Given the description of an element on the screen output the (x, y) to click on. 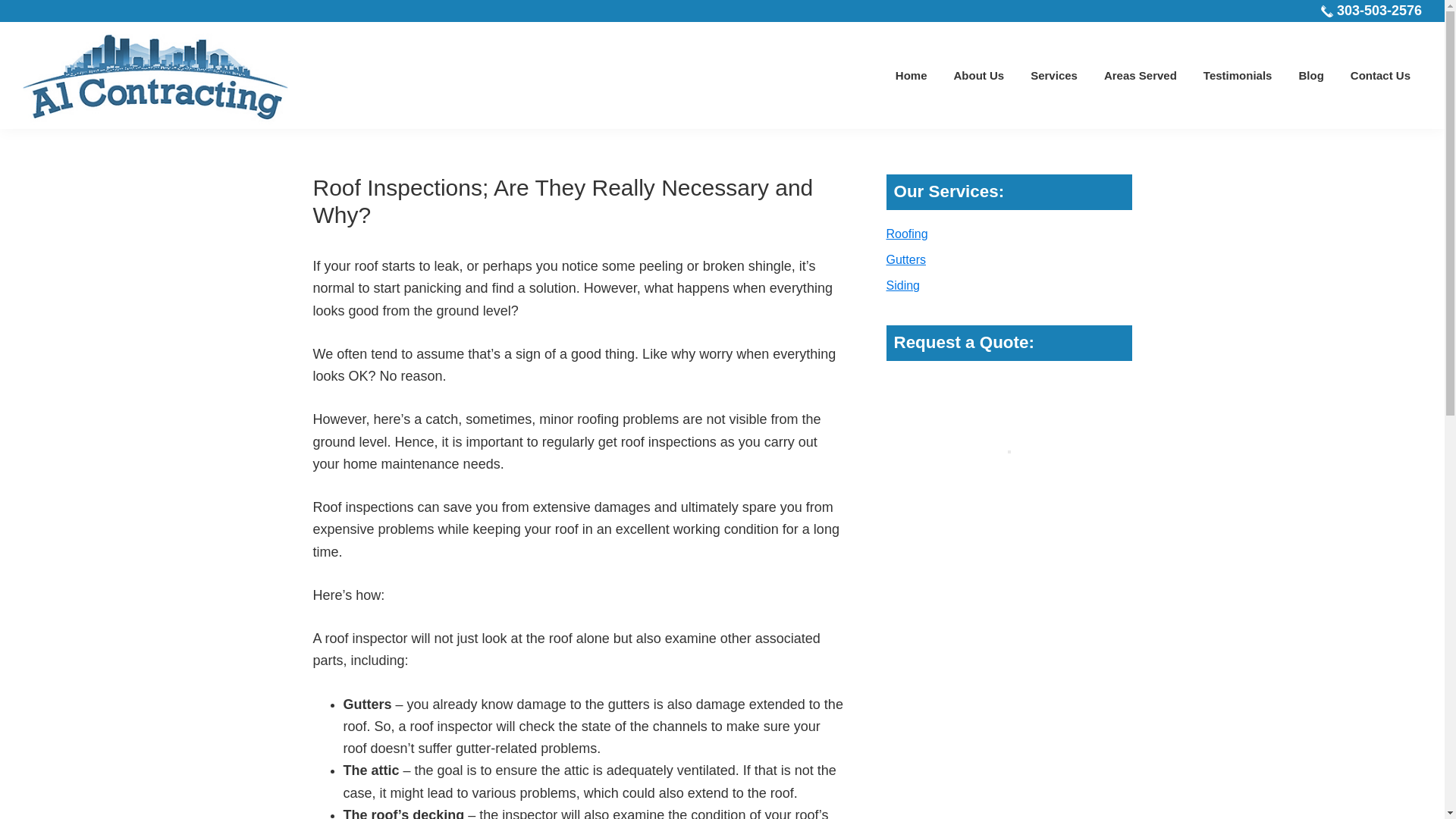
About Us (978, 75)
Siding (901, 285)
Testimonials (1238, 75)
Gutters (904, 259)
Roofing (906, 233)
Contact Us (1380, 75)
Areas Served (1140, 75)
Services (1054, 75)
Home (911, 75)
